Given the description of an element on the screen output the (x, y) to click on. 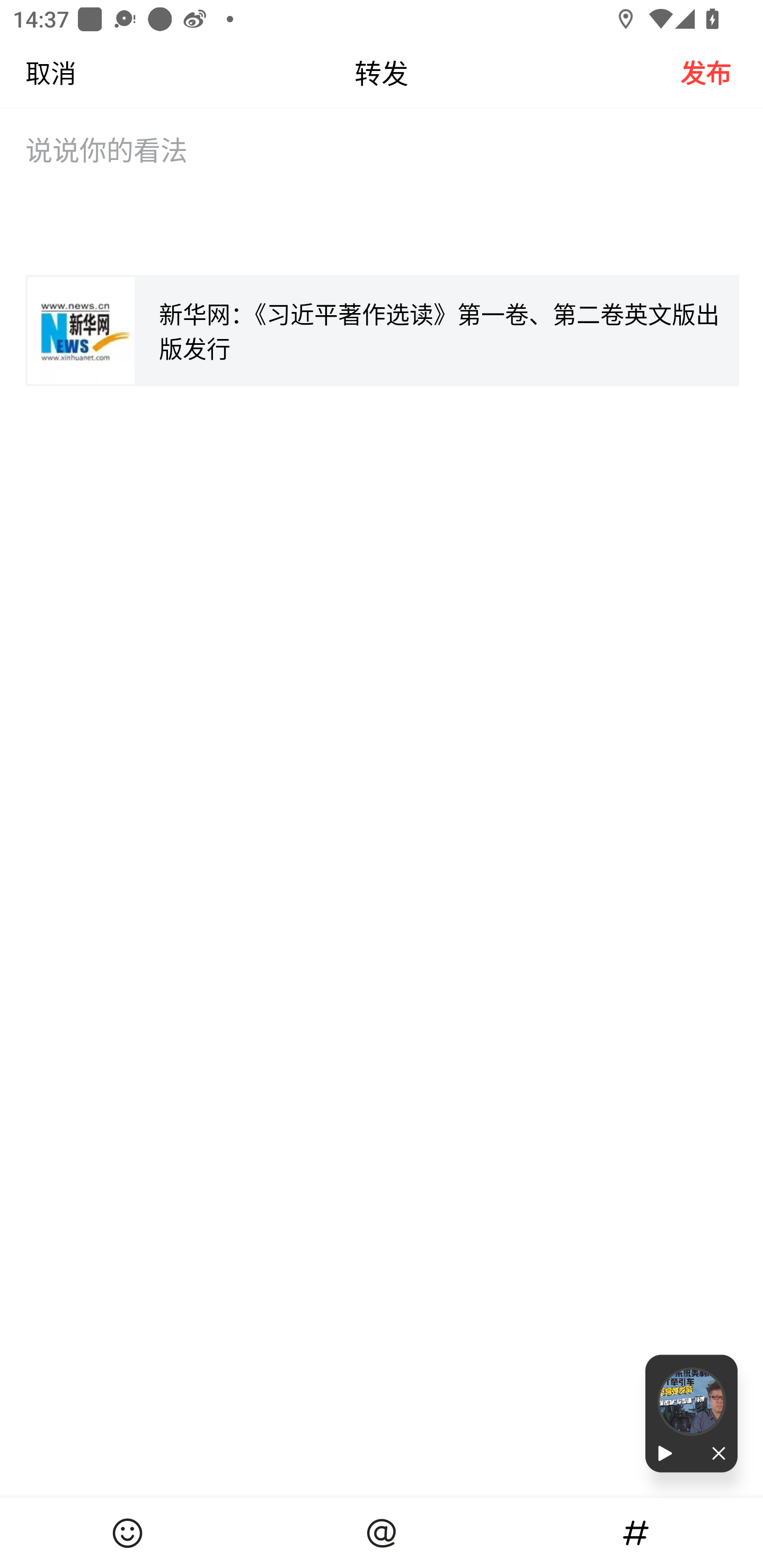
取消 (38, 71)
发布 (721, 71)
说说你的看法 (382, 194)
当前进度 0% 播放 关闭 (691, 1413)
播放 (668, 1454)
关闭 (714, 1454)
表情 (127, 1532)
at (381, 1532)
话题 (635, 1532)
